Given the description of an element on the screen output the (x, y) to click on. 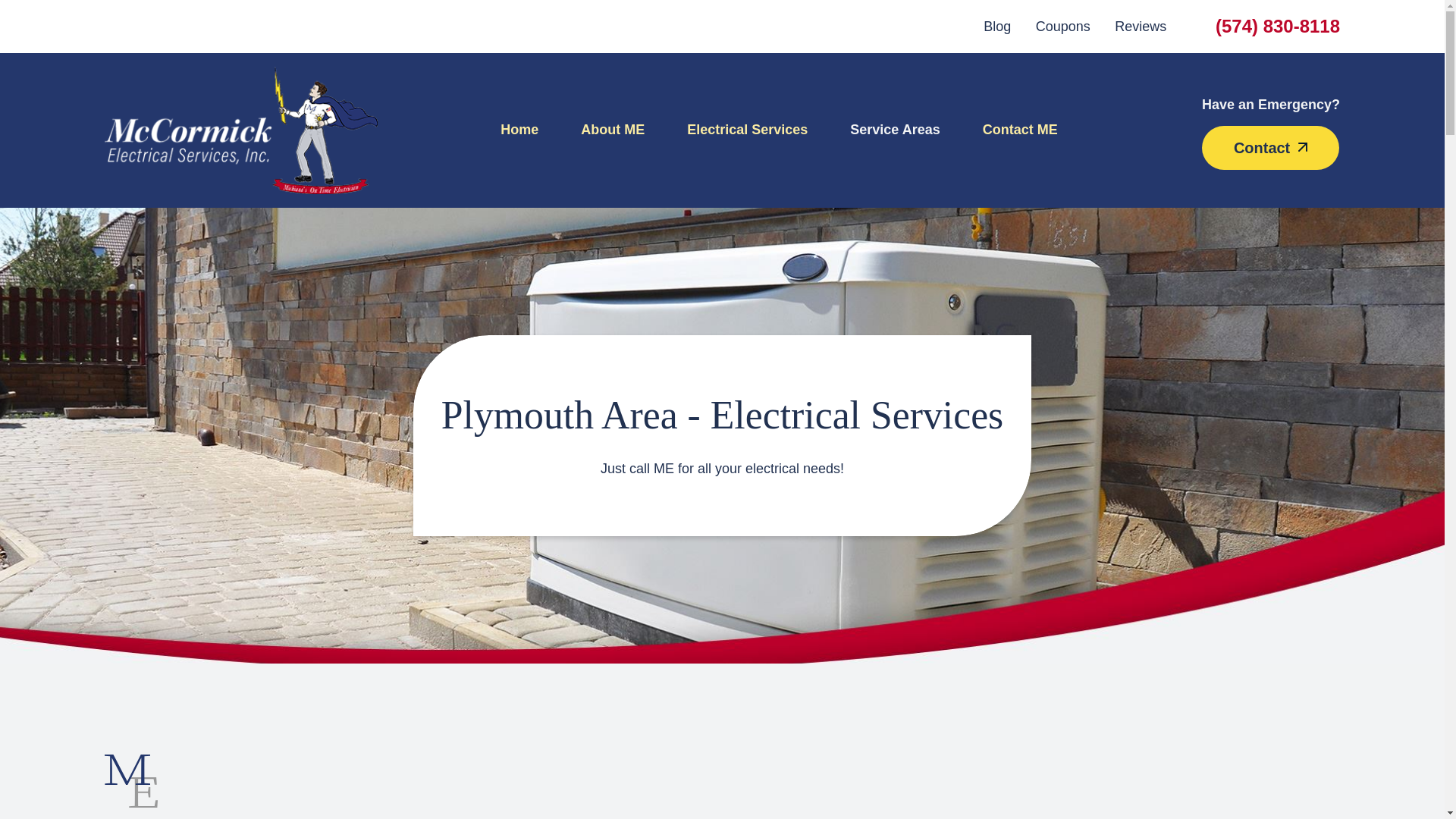
Blog (997, 26)
McCormick Electrical Services Inc. (240, 130)
Electrical Services (746, 129)
About ME (612, 129)
Service Areas (894, 129)
Coupons (1062, 26)
Reviews (1140, 26)
Home (529, 129)
